Given the description of an element on the screen output the (x, y) to click on. 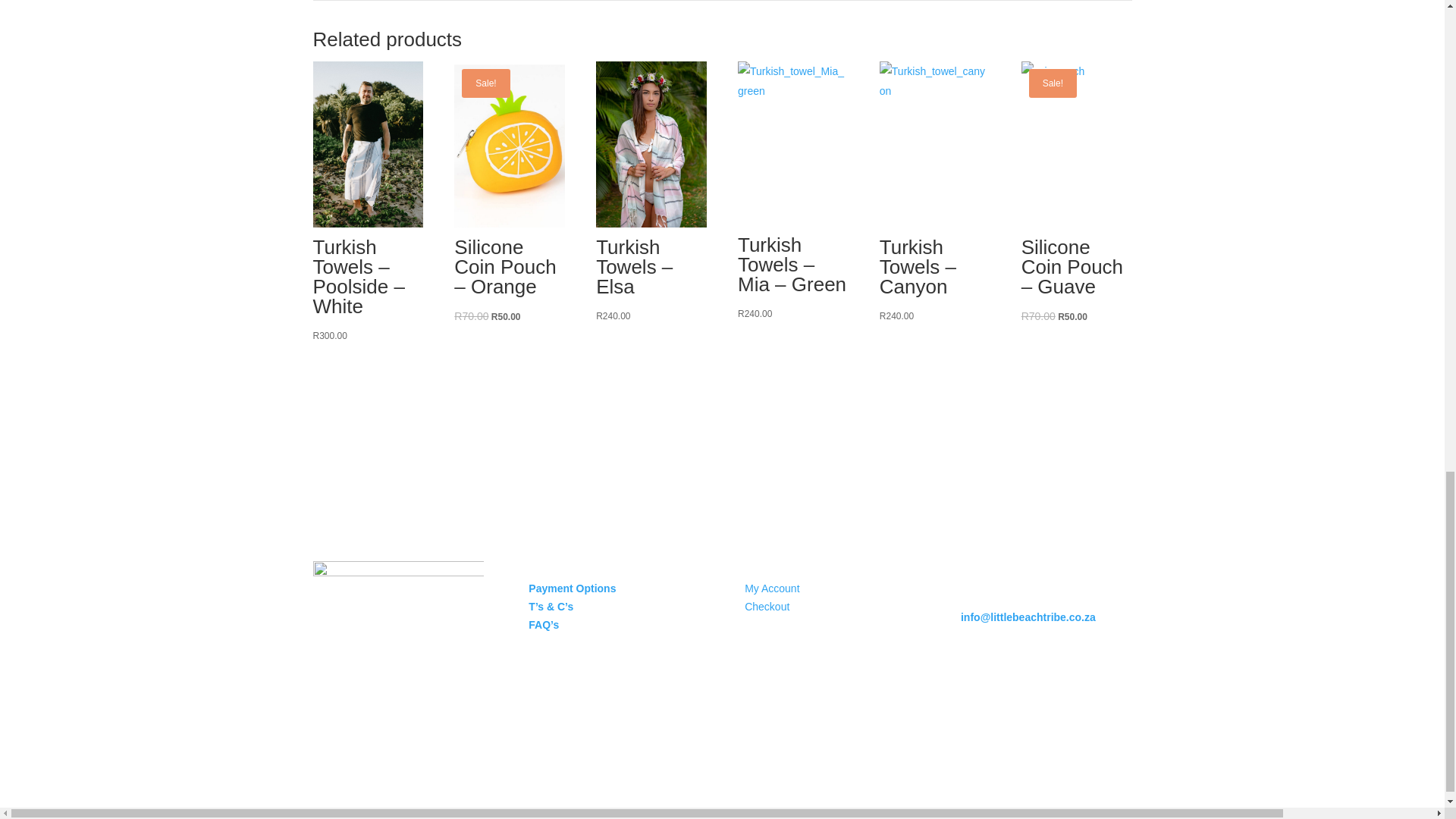
Follow on Facebook (972, 672)
Follow on Instagram (1002, 672)
